Given the description of an element on the screen output the (x, y) to click on. 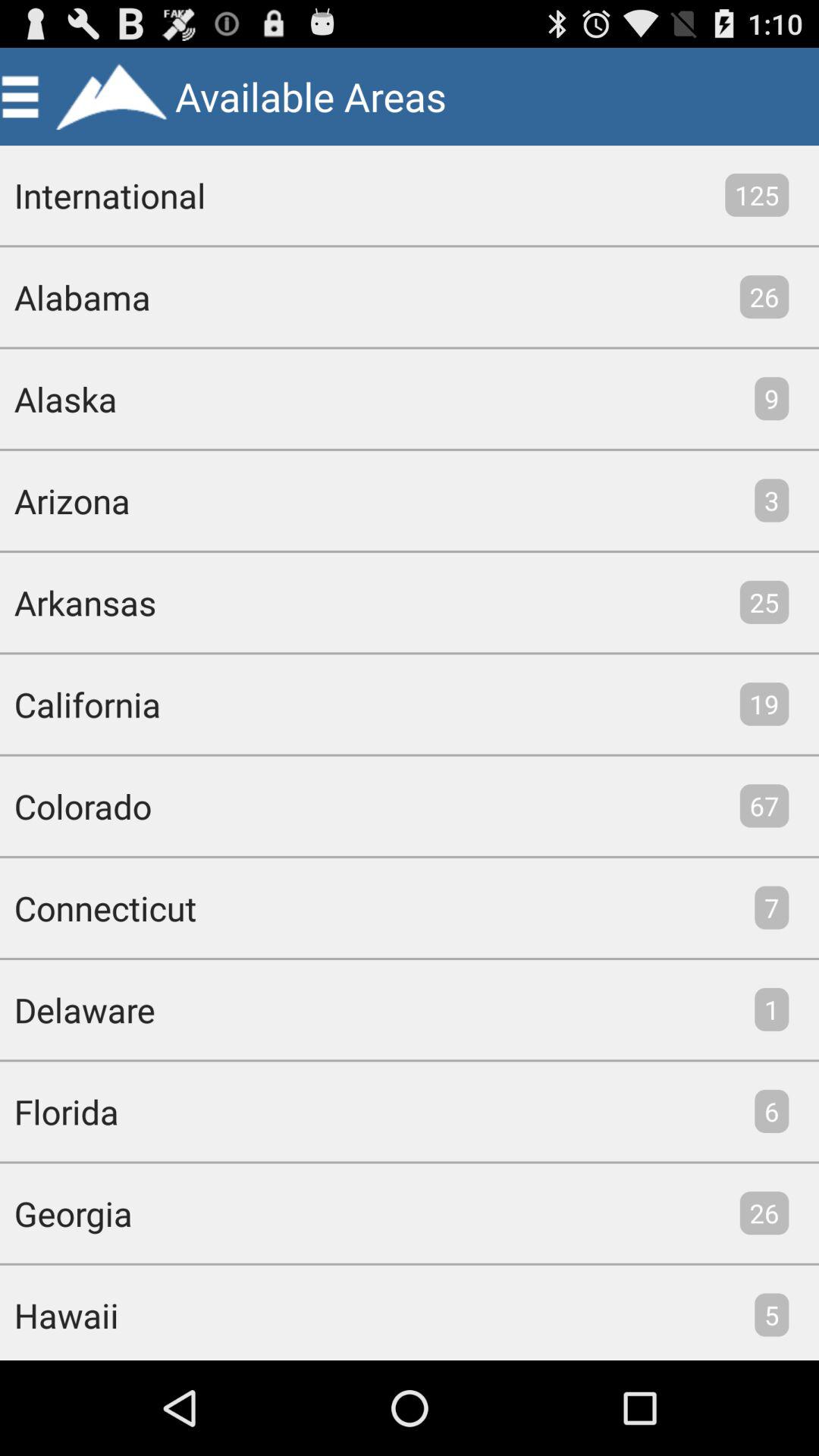
launch the app to the left of 7 item (98, 907)
